Given the description of an element on the screen output the (x, y) to click on. 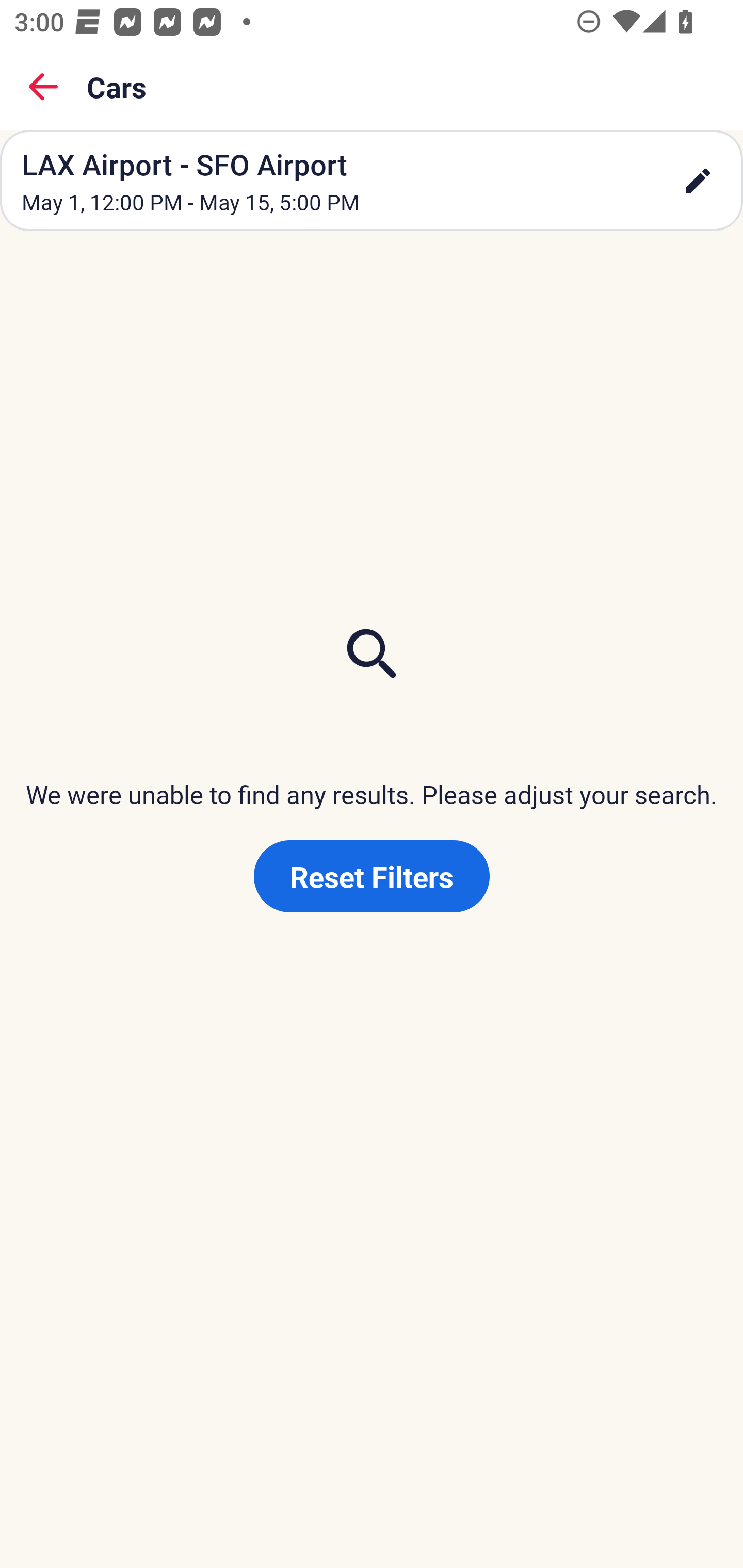
Back (43, 86)
edit (697, 180)
Reset Filters (371, 876)
